Given the description of an element on the screen output the (x, y) to click on. 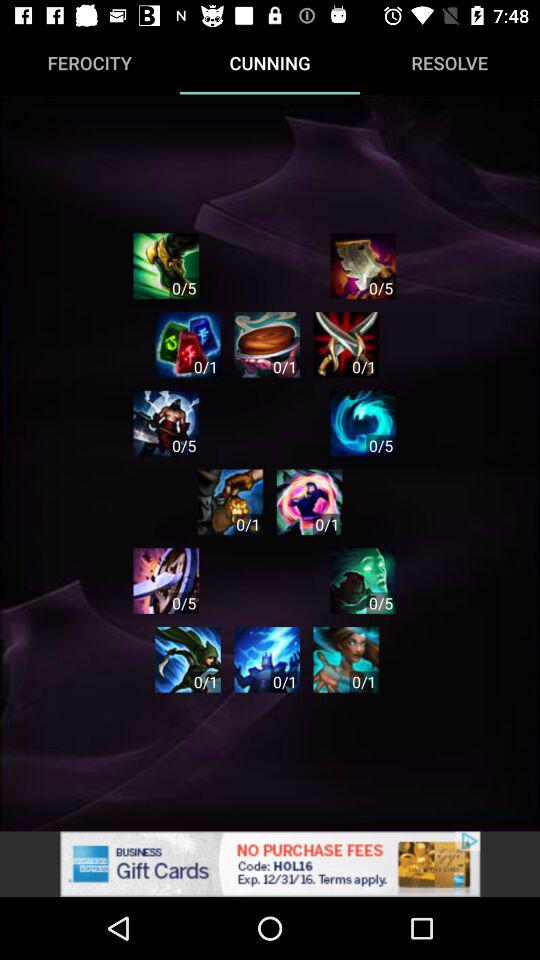
advertisement (270, 864)
